Given the description of an element on the screen output the (x, y) to click on. 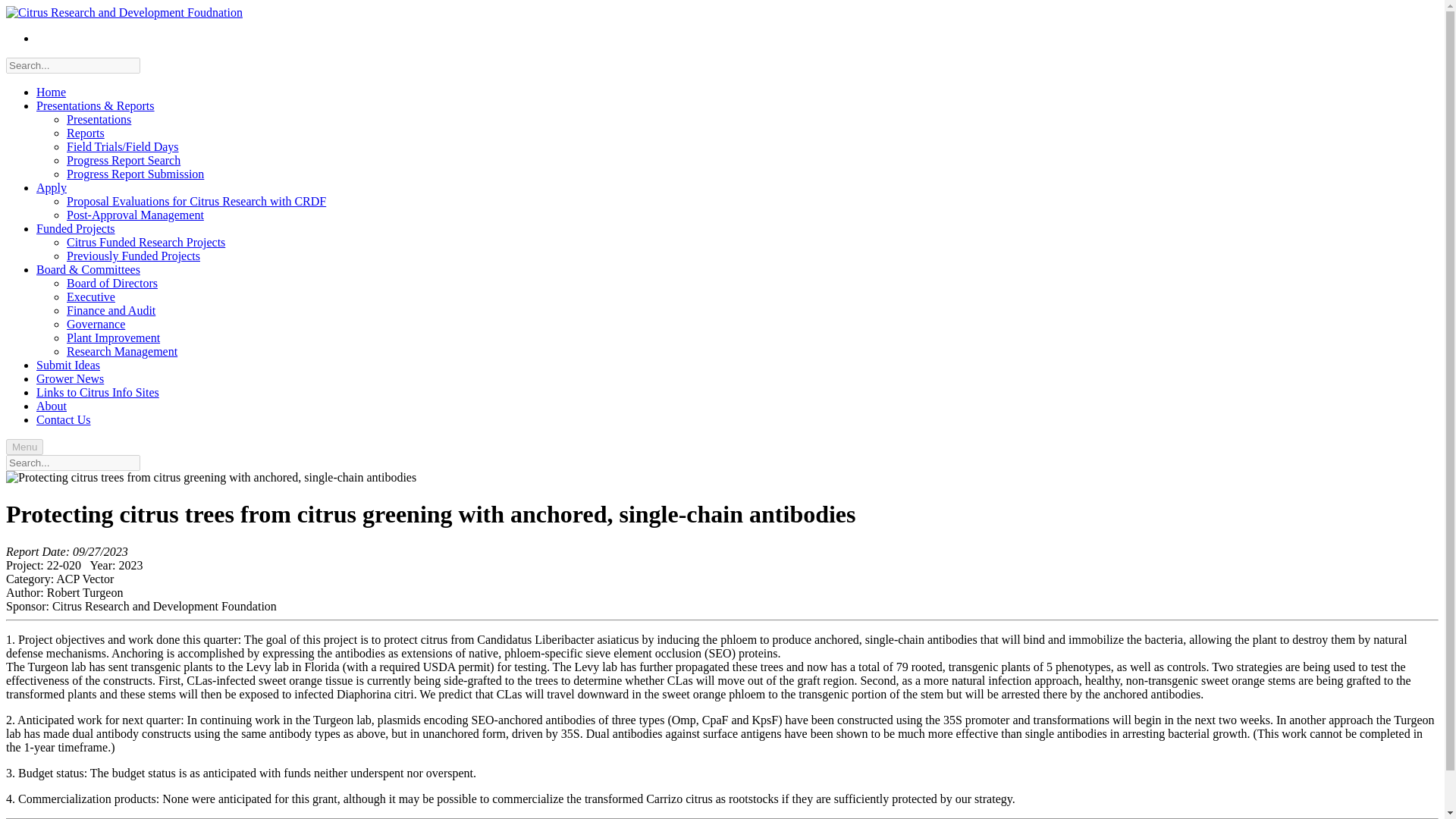
Grower News (69, 378)
Previously Funded Projects (133, 255)
Presentations (98, 119)
Post-Approval Management (134, 214)
Progress Report Search (123, 160)
Links to Citrus Info Sites (97, 391)
Contact Us (63, 419)
About (51, 405)
Board of Directors (111, 282)
Plant Improvement (113, 337)
Research Management (121, 350)
Menu (24, 446)
Apply (51, 187)
Governance (95, 323)
Citrus Funded Research Projects (145, 241)
